Given the description of an element on the screen output the (x, y) to click on. 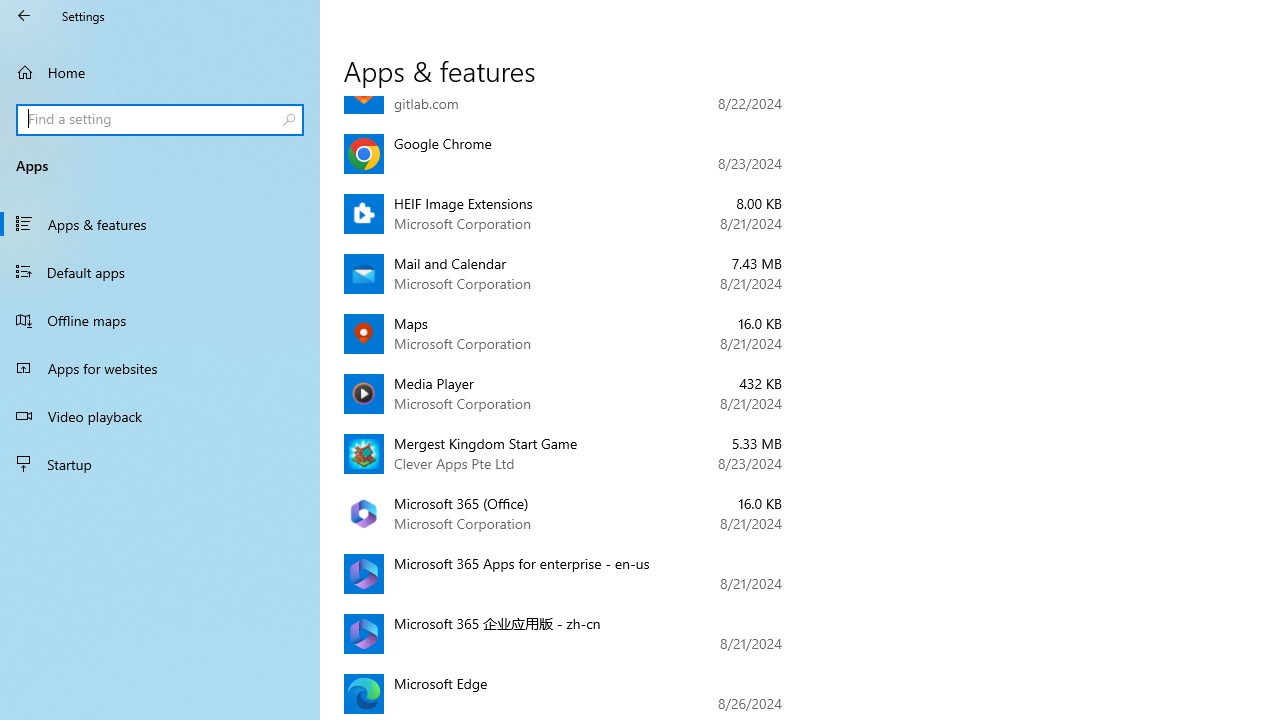
Startup (160, 463)
Search box, Find a setting (160, 119)
Apps & features (160, 223)
Offline maps (160, 319)
Video playback (160, 415)
